Given the description of an element on the screen output the (x, y) to click on. 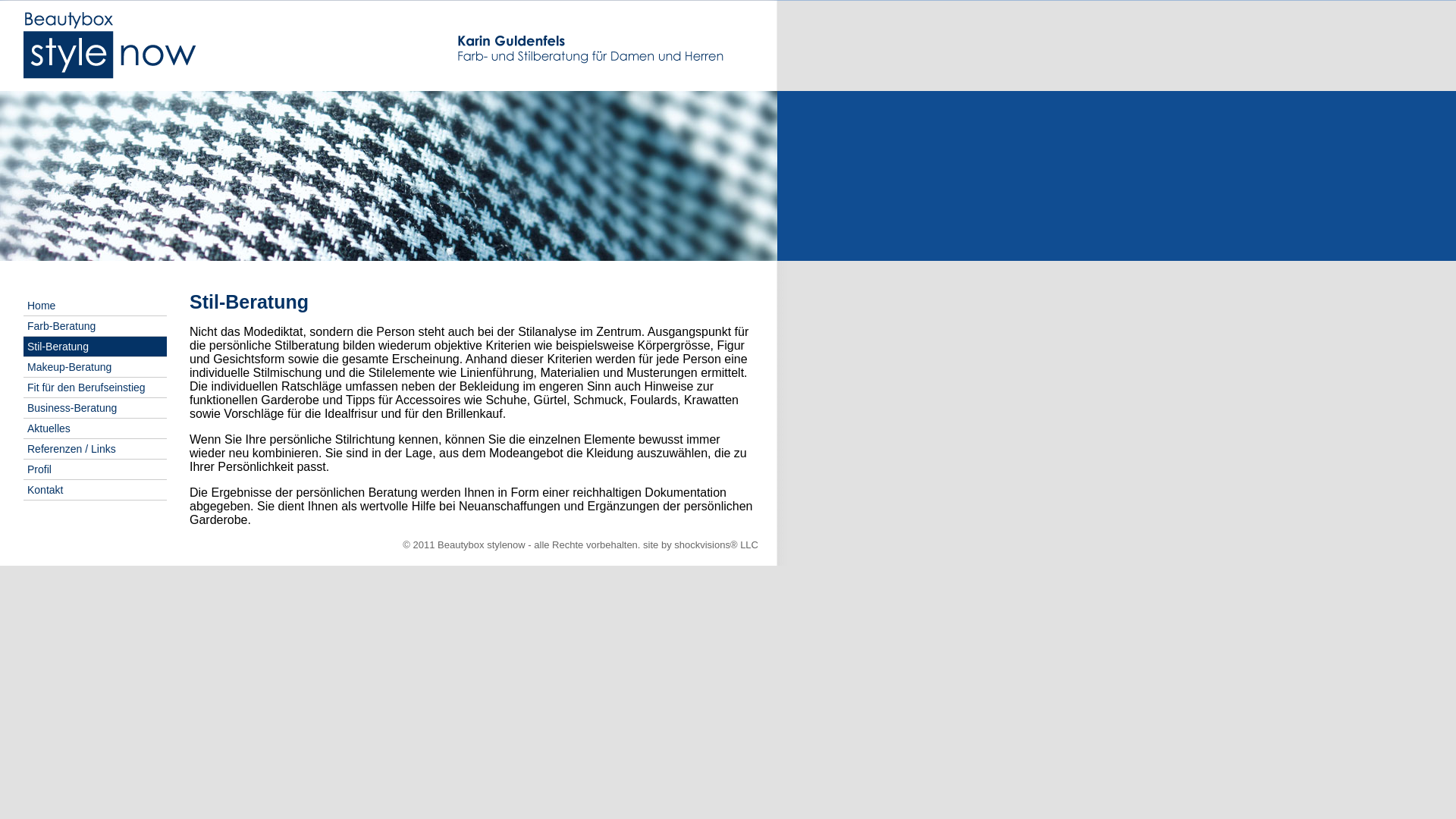
Kontakt Element type: text (94, 490)
Makeup-Beratung Element type: text (94, 367)
Profil Element type: text (94, 469)
Home Element type: text (94, 305)
Referenzen / Links Element type: text (94, 449)
Stil-Beratung Element type: text (94, 346)
Business-Beratung Element type: text (94, 408)
Aktuelles Element type: text (94, 428)
Farb-Beratung Element type: text (94, 326)
